Given the description of an element on the screen output the (x, y) to click on. 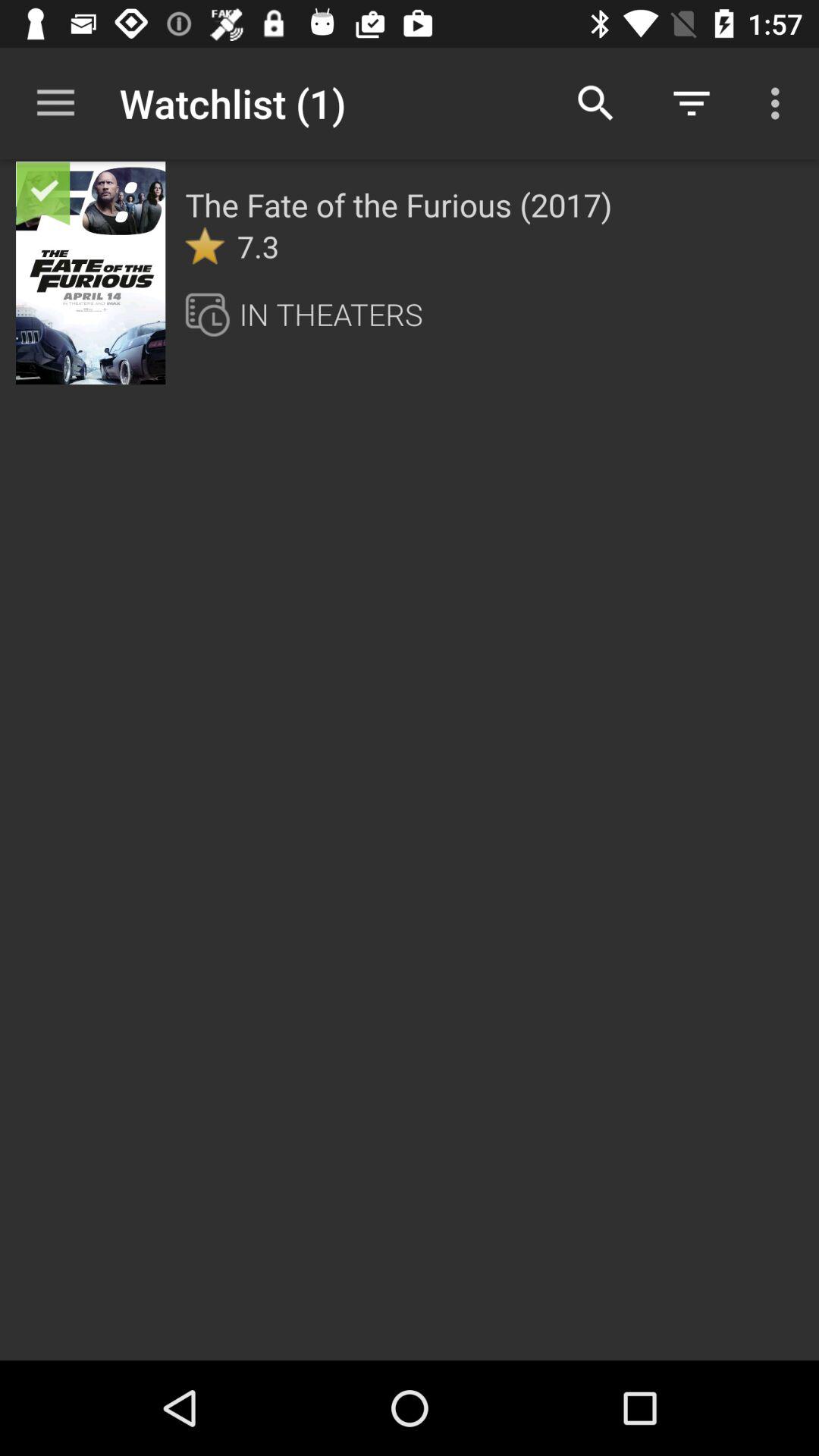
turn on the app to the left of the watchlist (1) (55, 103)
